Given the description of an element on the screen output the (x, y) to click on. 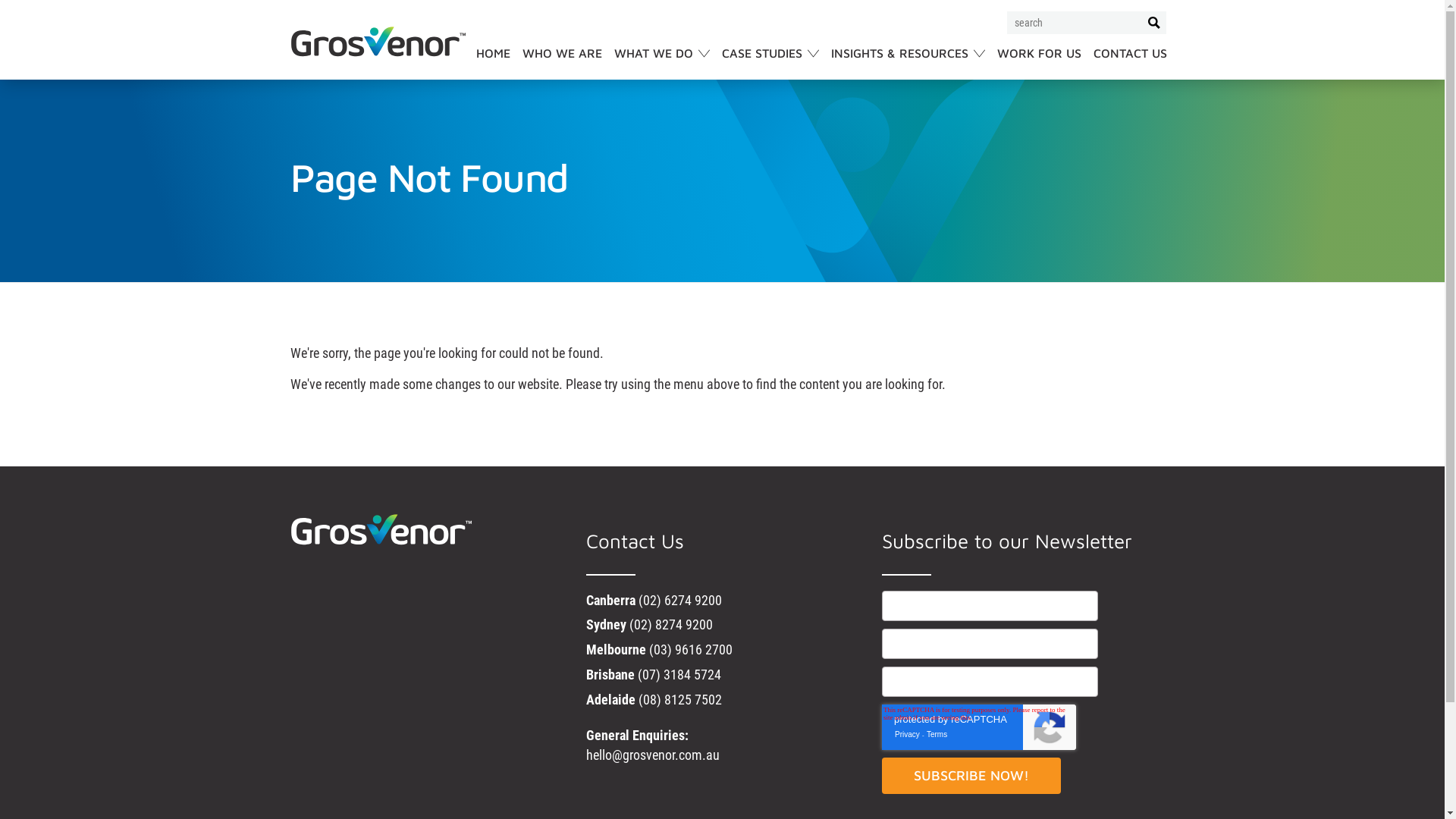
Subscribe now! Element type: text (970, 775)
INSIGHTS & RESOURCES Element type: text (908, 62)
(03) 9616 2700 Element type: text (690, 649)
hello@grosvenor.com.au Element type: text (651, 754)
reCAPTCHA Element type: hover (978, 726)
HOME Element type: text (493, 62)
(02) 6274 9200 Element type: text (679, 600)
WHAT WE DO Element type: text (661, 62)
Subscribe now! Element type: text (1094, 465)
CASE STUDIES Element type: text (770, 62)
Subscribe now! Element type: text (1094, 395)
search Element type: text (1153, 22)
WORK FOR US Element type: text (1038, 62)
(02) 8274 9200 Element type: text (670, 624)
CONTACT US Element type: text (1130, 62)
(07) 3184 5724 Element type: text (678, 674)
WHO WE ARE Element type: text (561, 62)
